Given the description of an element on the screen output the (x, y) to click on. 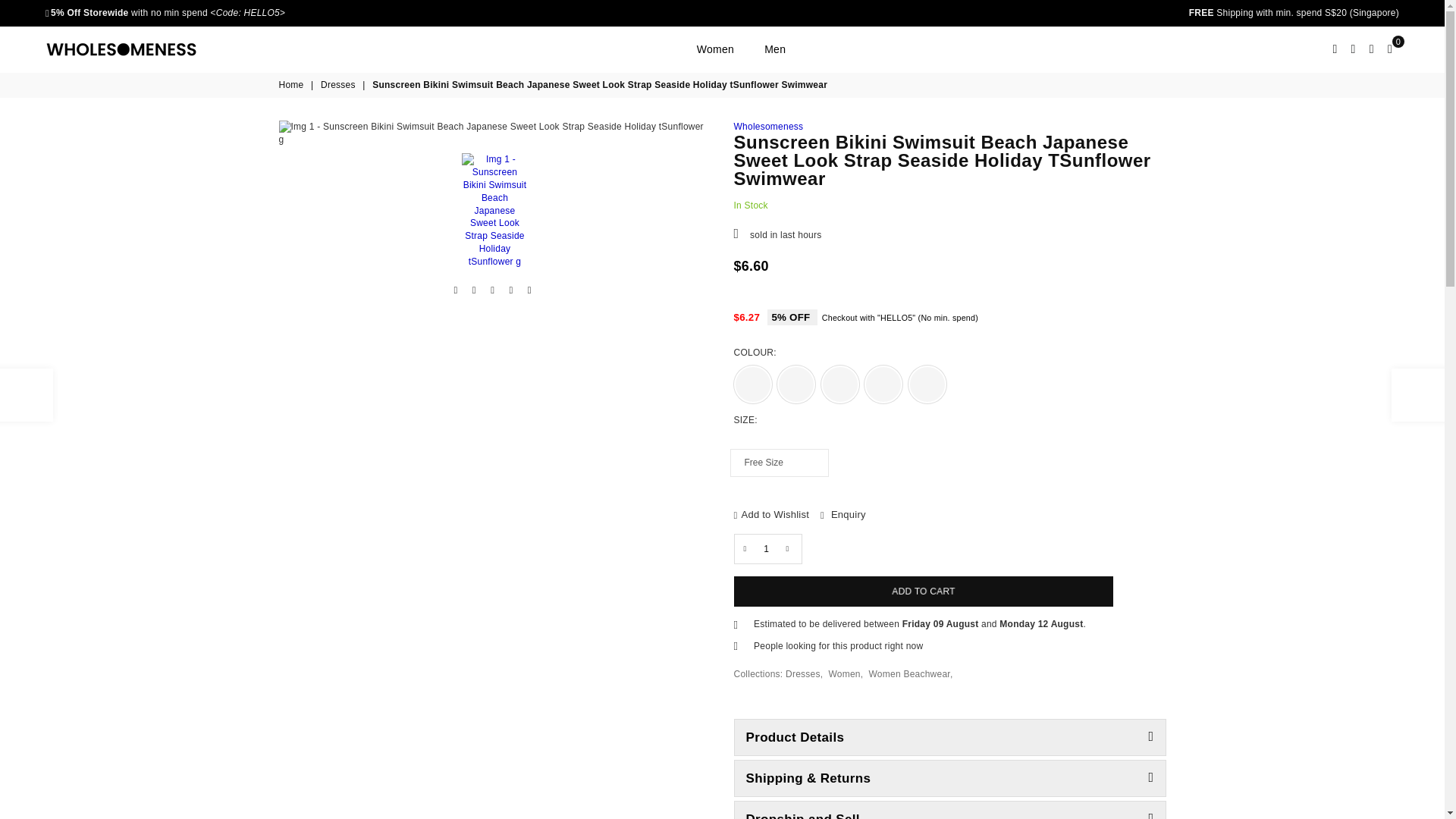
Wholesomeness (768, 126)
Share on Facebook (455, 289)
Back to the home page (292, 84)
Quantity (767, 548)
Men (774, 49)
Share on Linked In (510, 289)
Tweet on Twitter (474, 289)
Women (715, 49)
Pin on Pinterest (492, 289)
Share by Email (529, 289)
Wholesomeness (132, 48)
